Given the description of an element on the screen output the (x, y) to click on. 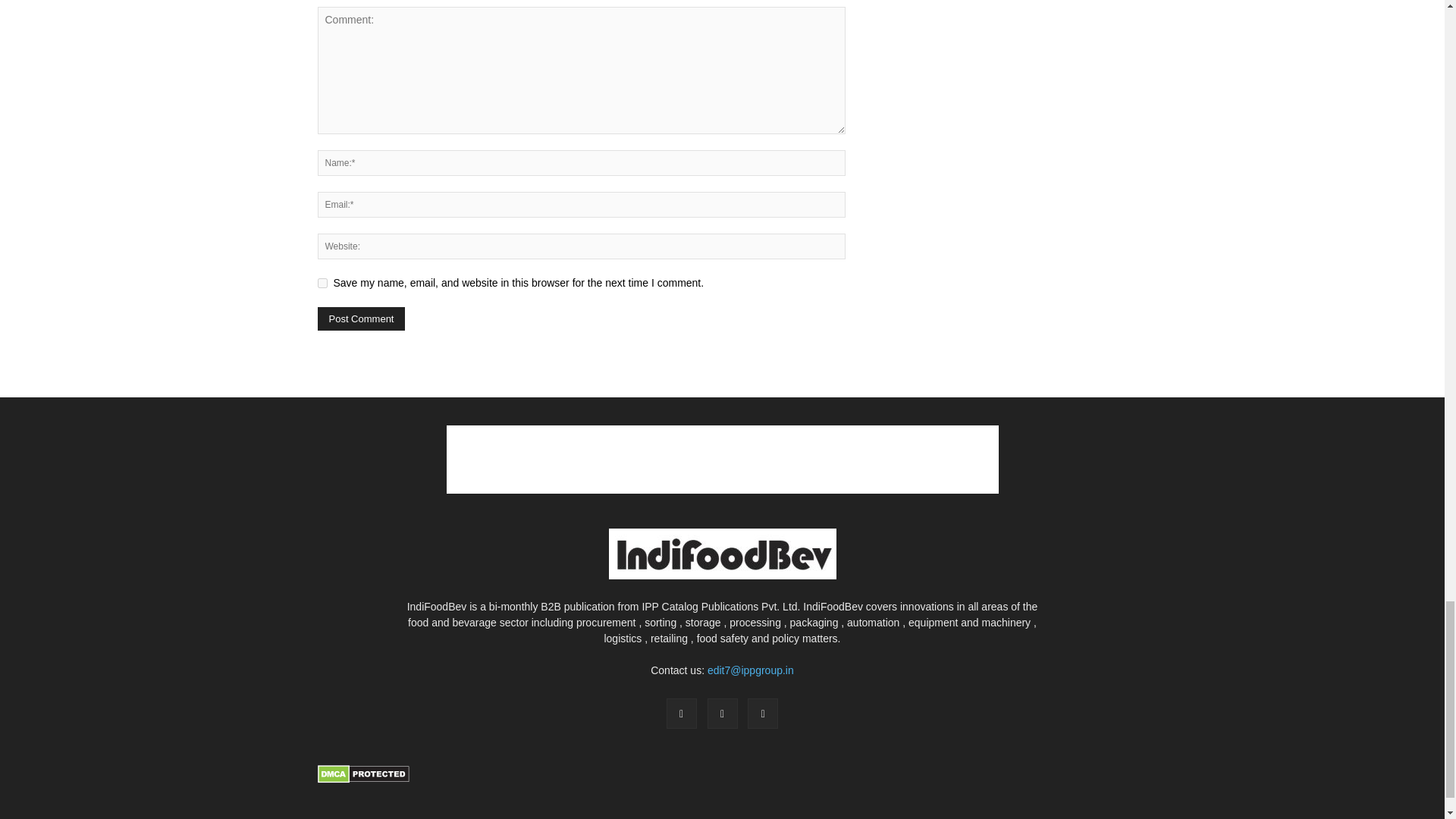
Post Comment (360, 318)
yes (321, 283)
